Given the description of an element on the screen output the (x, y) to click on. 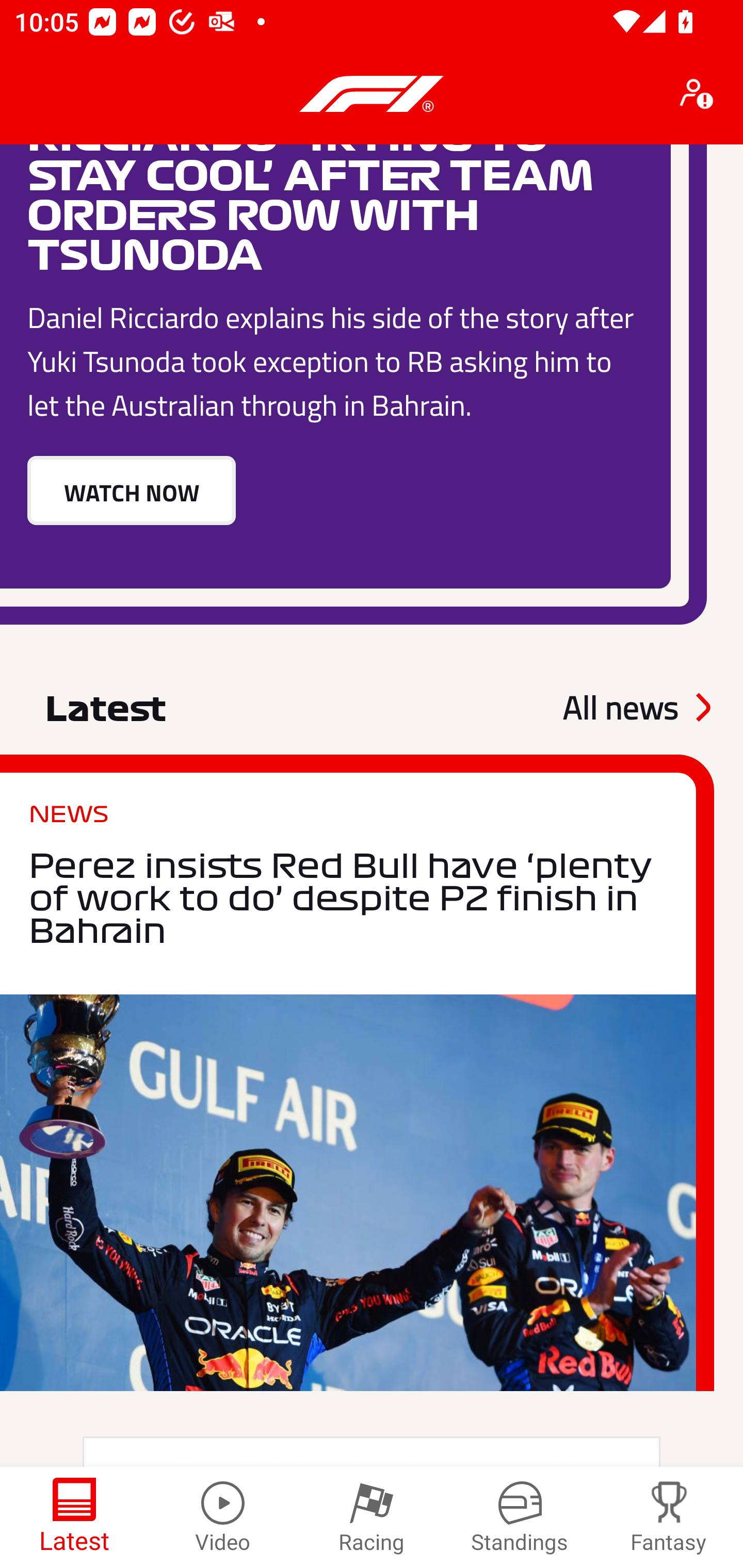
WATCH NOW (131, 490)
All news See all (635, 707)
Video (222, 1517)
Racing (371, 1517)
Standings (519, 1517)
Fantasy (668, 1517)
